Given the description of an element on the screen output the (x, y) to click on. 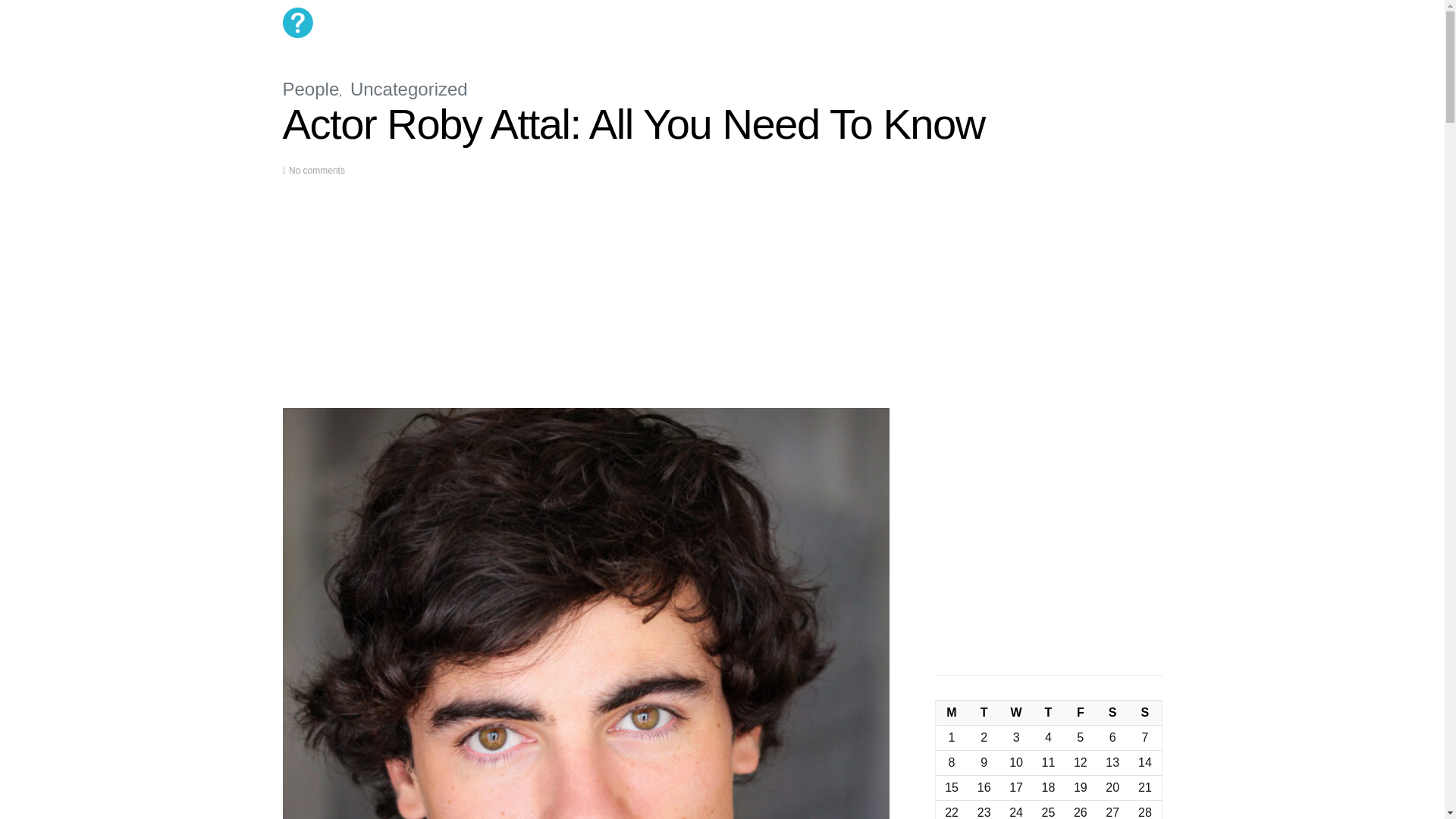
Advertise Here (747, 22)
Thursday (1048, 713)
No comments (316, 170)
Friday (1080, 713)
Uncategorized (408, 88)
Celeb Corner (505, 22)
Health (564, 22)
Wednesday (1016, 713)
Sunday (1144, 713)
People (310, 88)
How to (608, 22)
Crime Update (670, 22)
Tuesday (984, 713)
Saturday (1112, 713)
Advertisement (585, 301)
